Given the description of an element on the screen output the (x, y) to click on. 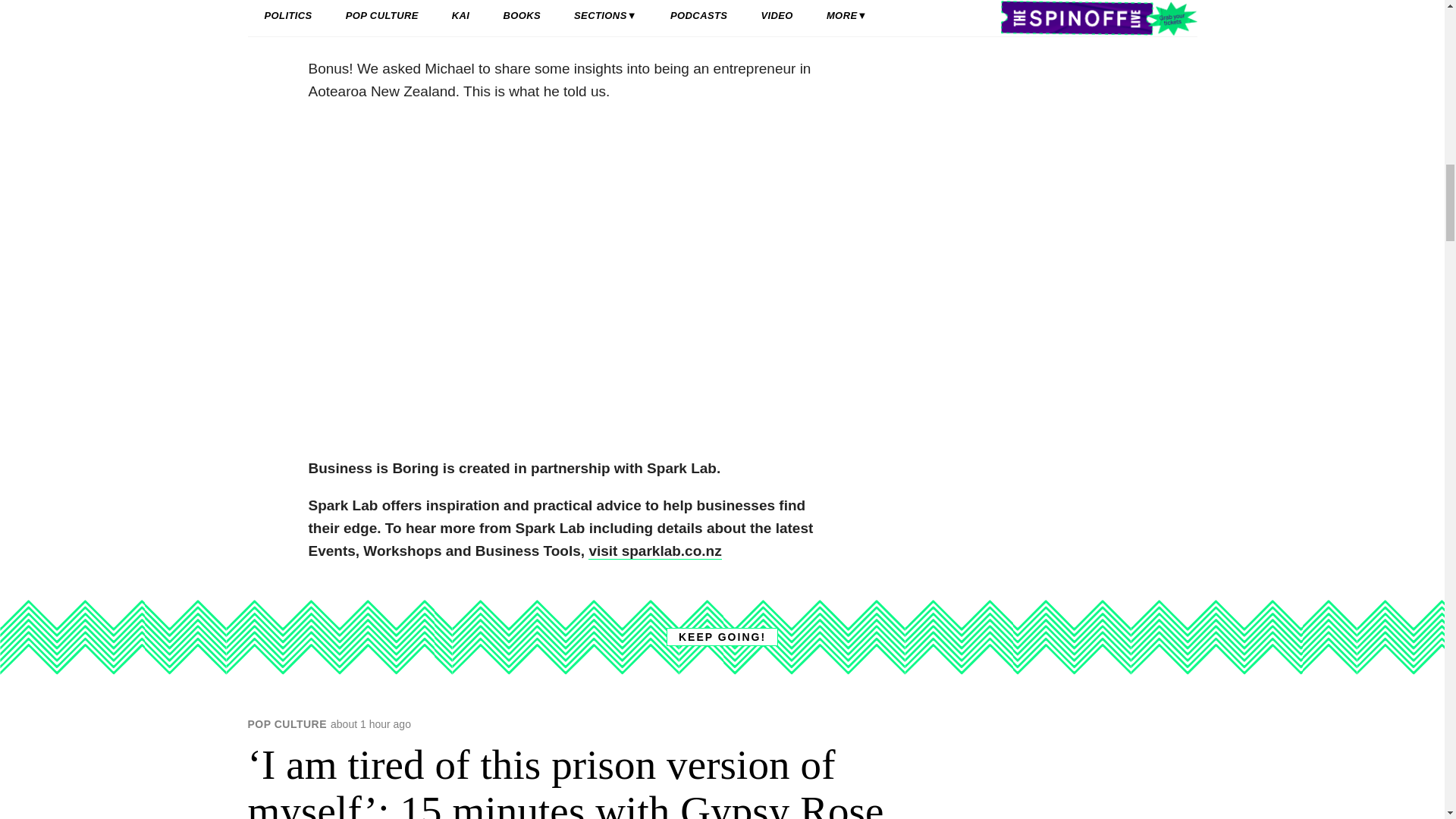
KEEP GOING! (721, 637)
